Given the description of an element on the screen output the (x, y) to click on. 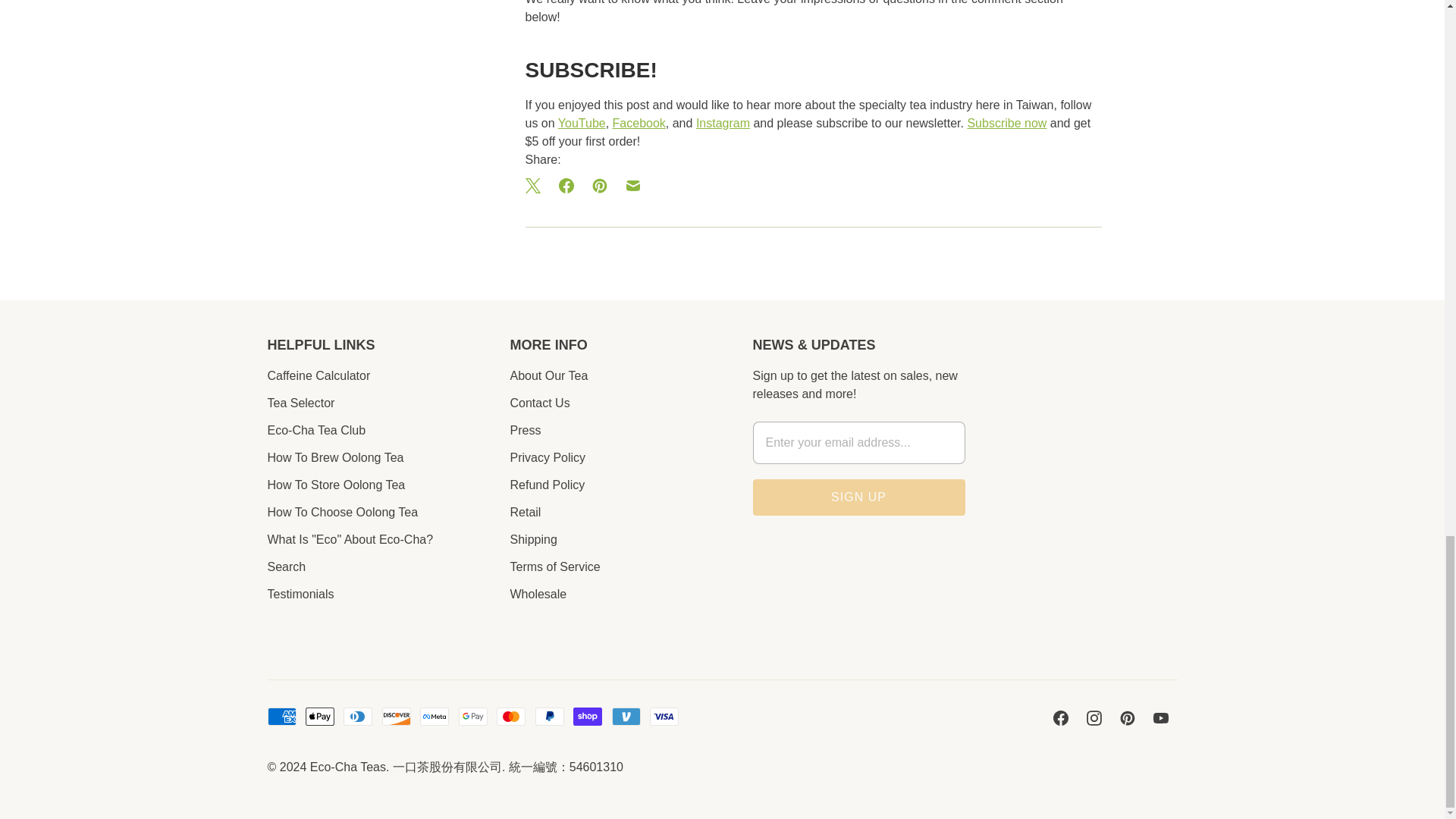
Visa (663, 716)
Discover (395, 716)
Sign Up (857, 497)
Venmo (625, 716)
Eco-Cha Facebook Page (638, 123)
Share this on Pinterest (598, 185)
Shop Pay (587, 716)
Share this on Facebook (565, 185)
Diners Club (357, 716)
Eco-Cha Instagram Feed (722, 123)
